Given the description of an element on the screen output the (x, y) to click on. 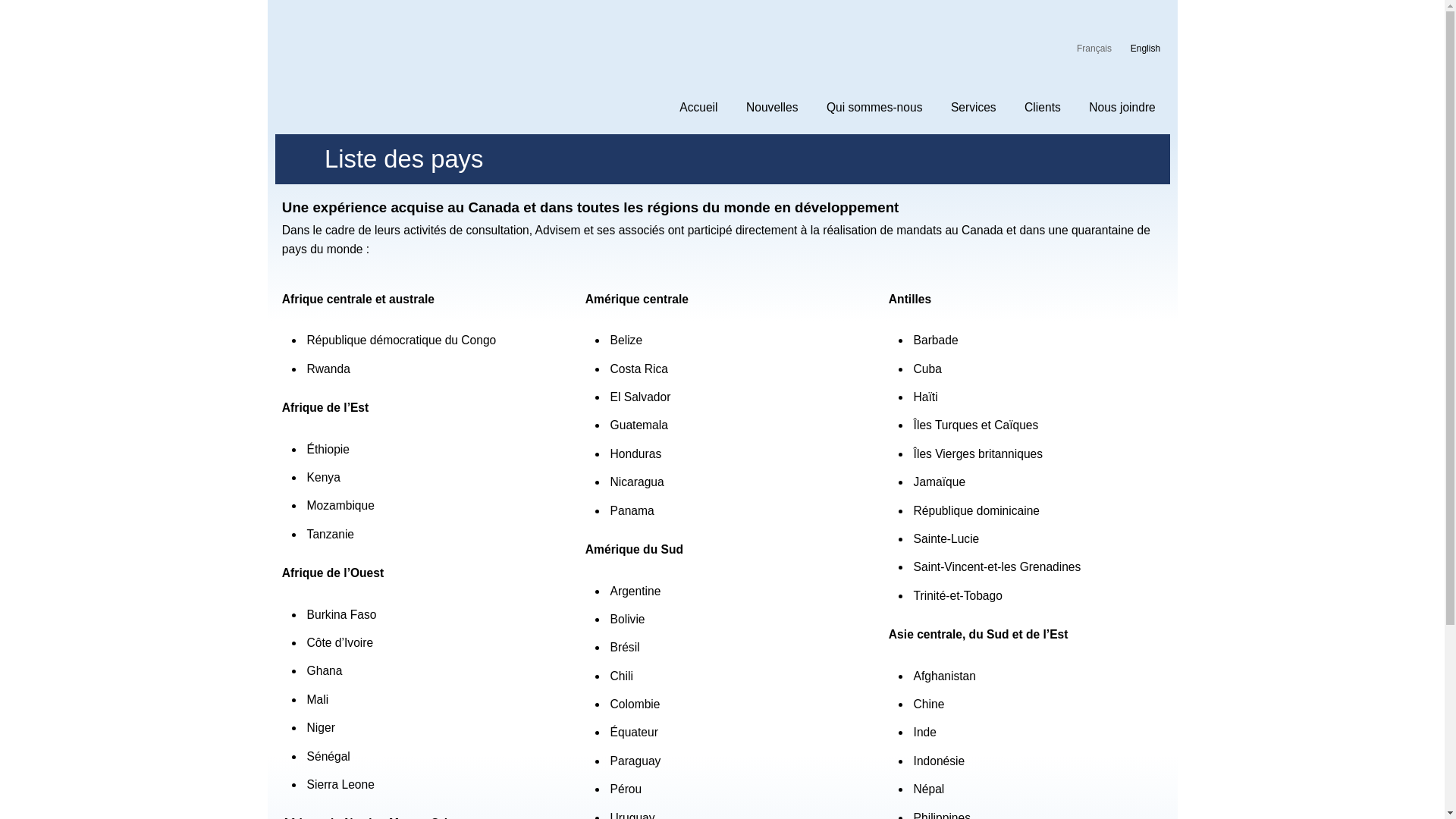
Nouvelles Element type: text (771, 106)
Accueil Element type: hover (373, 58)
Services Element type: text (973, 106)
Qui sommes-nous Element type: text (874, 106)
Accueil Element type: text (698, 106)
Nous joindre Element type: text (1122, 106)
Clients Element type: text (1042, 106)
English Element type: text (1145, 48)
Aller au contenu principal Element type: text (699, 1)
